Given the description of an element on the screen output the (x, y) to click on. 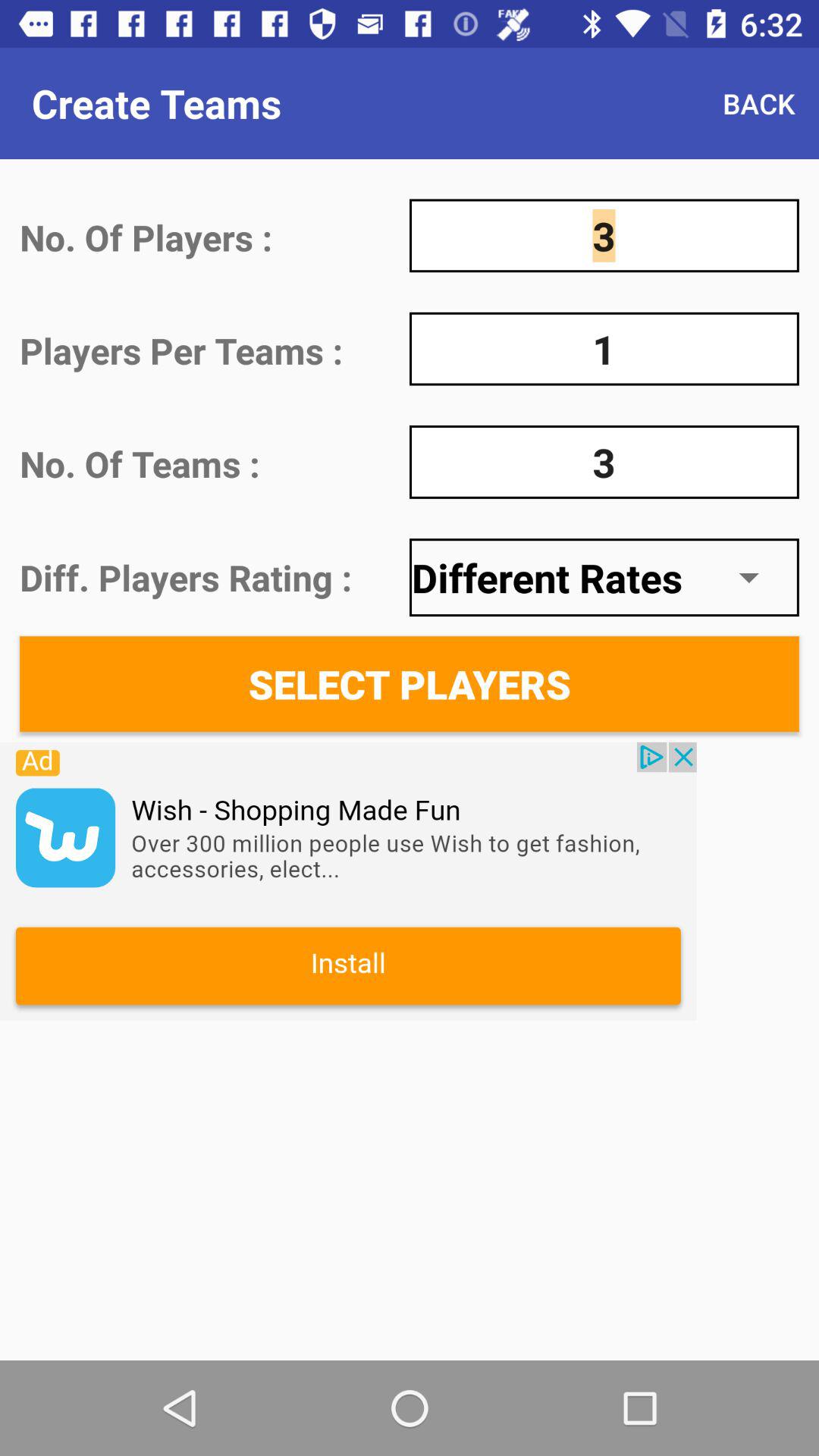
more information about an advertisement (348, 881)
